Given the description of an element on the screen output the (x, y) to click on. 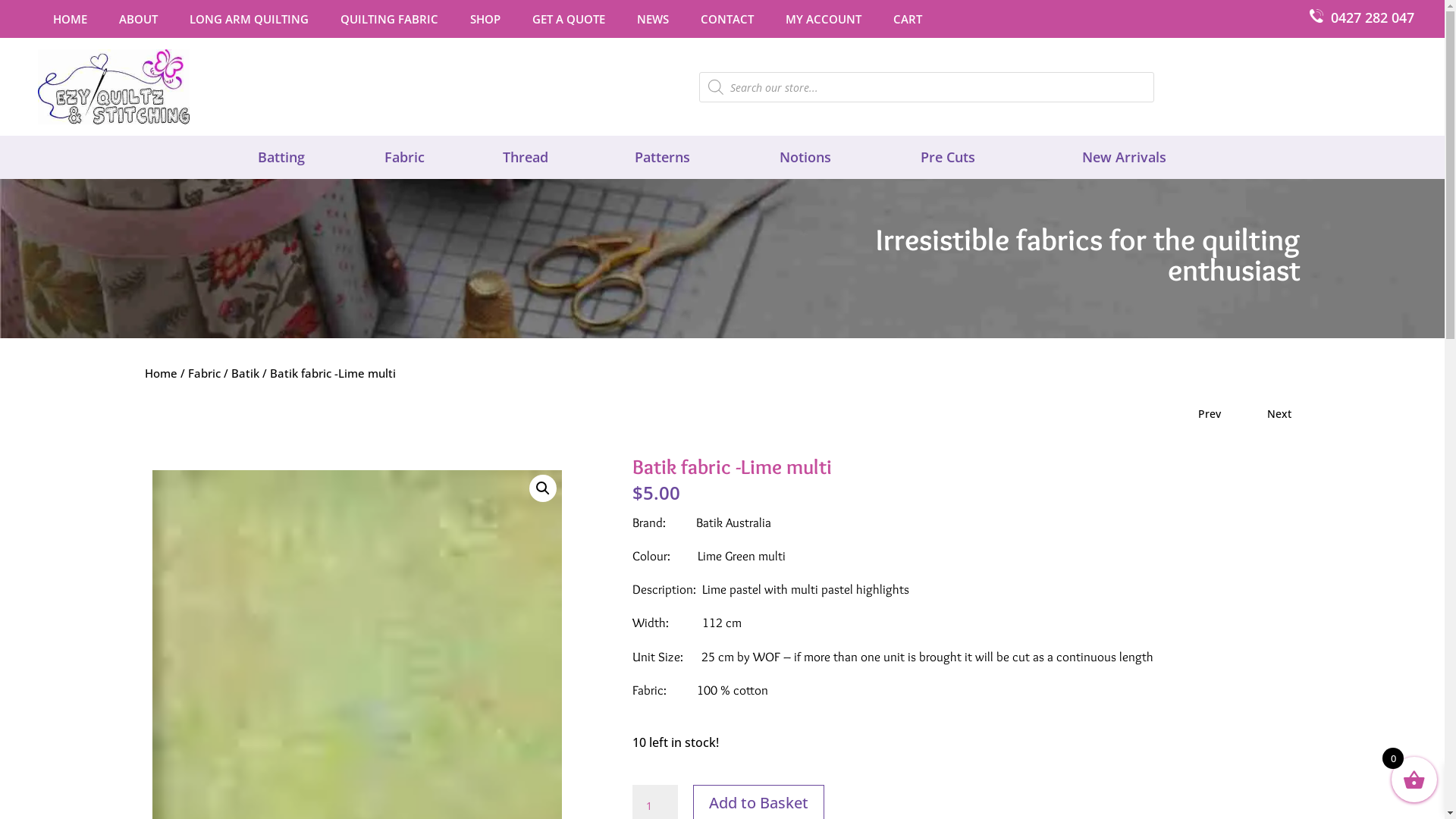
NEWS Element type: text (660, 21)
New Arrivals Element type: text (1124, 156)
Batik Element type: text (244, 372)
Pre Cuts Element type: text (947, 156)
Home Element type: text (160, 372)
MY ACCOUNT Element type: text (830, 21)
HOME Element type: text (77, 21)
Notions Element type: text (805, 156)
CART Element type: text (915, 21)
Ezy Quiltz and Stitching Element type: hover (113, 86)
Fabric Element type: text (404, 156)
CONTACT Element type: text (734, 21)
GET A QUOTE Element type: text (576, 21)
Batting Element type: text (280, 156)
Fabric Element type: text (204, 372)
0427 282 047 Element type: text (1372, 17)
ABOUT Element type: text (145, 21)
QUILTING FABRIC Element type: text (396, 21)
LONG ARM QUILTING Element type: text (256, 21)
Thread Element type: text (525, 156)
Patterns Element type: text (662, 156)
SHOP Element type: text (492, 21)
